Given the description of an element on the screen output the (x, y) to click on. 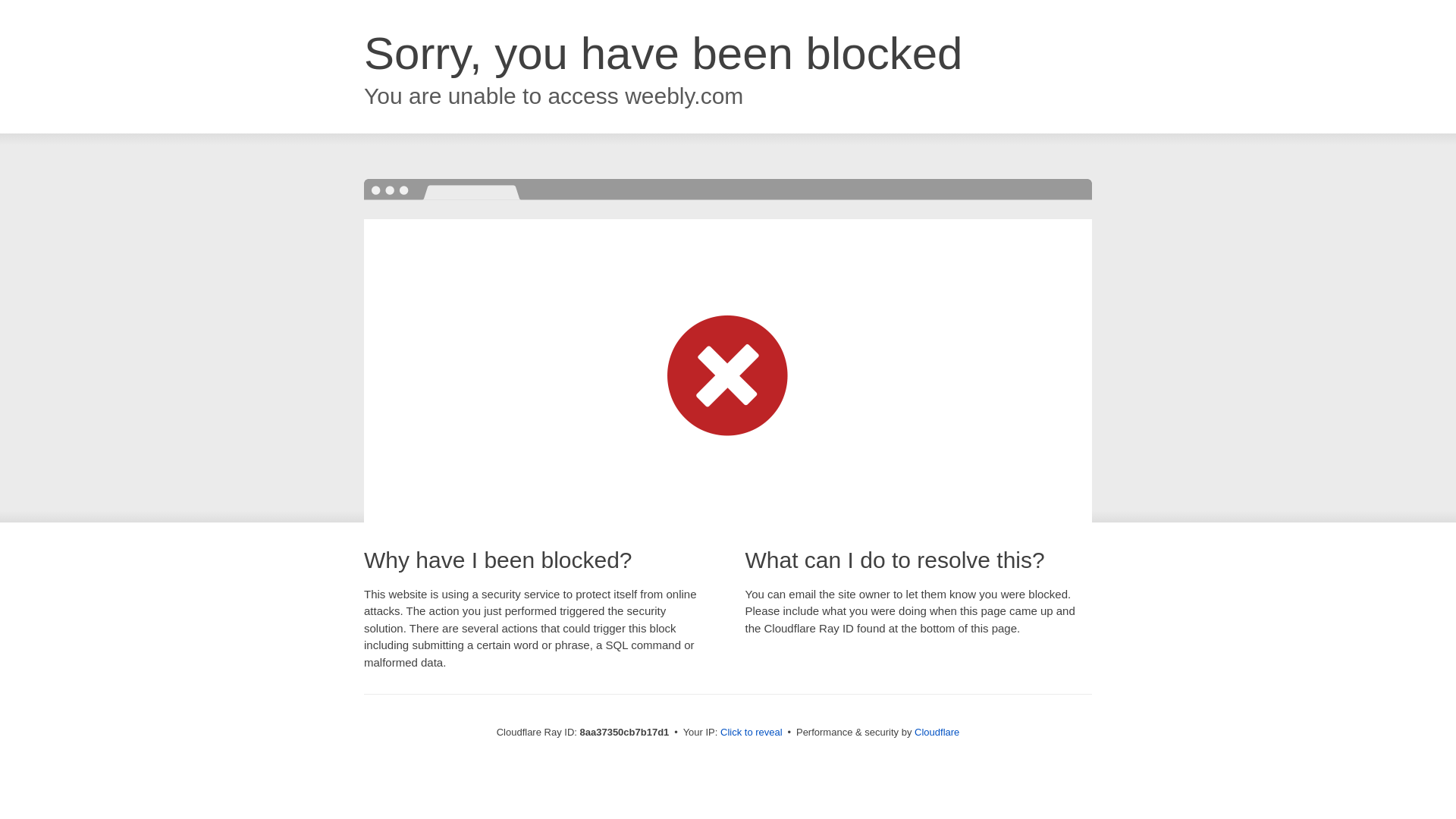
Cloudflare (936, 731)
Click to reveal (751, 732)
